Given the description of an element on the screen output the (x, y) to click on. 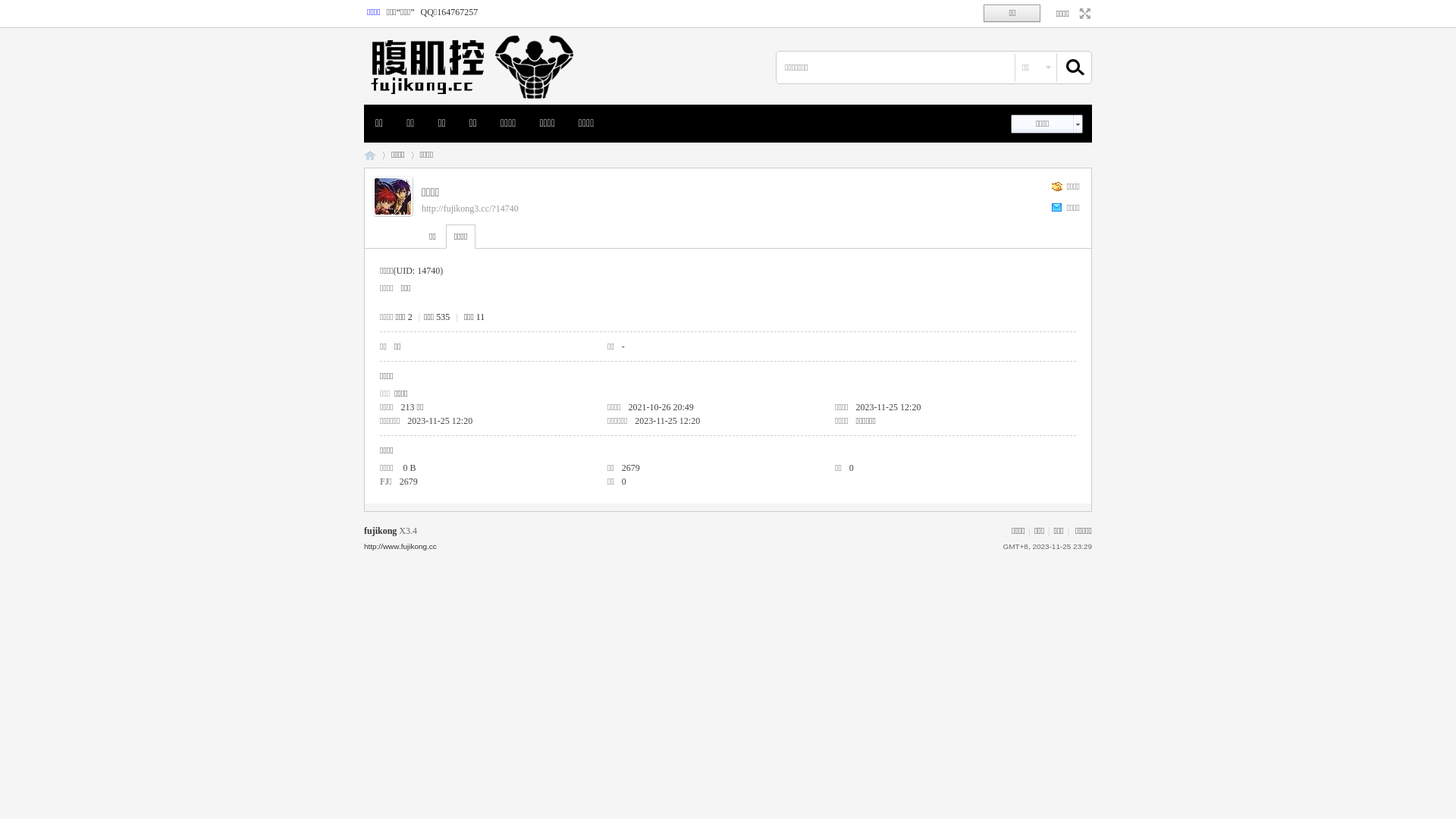
fujikong Element type: text (380, 530)
http://www.fujikong.cc Element type: text (400, 546)
http://fujikong3.cc/?14740 Element type: text (469, 208)
true Element type: text (1066, 67)
